Given the description of an element on the screen output the (x, y) to click on. 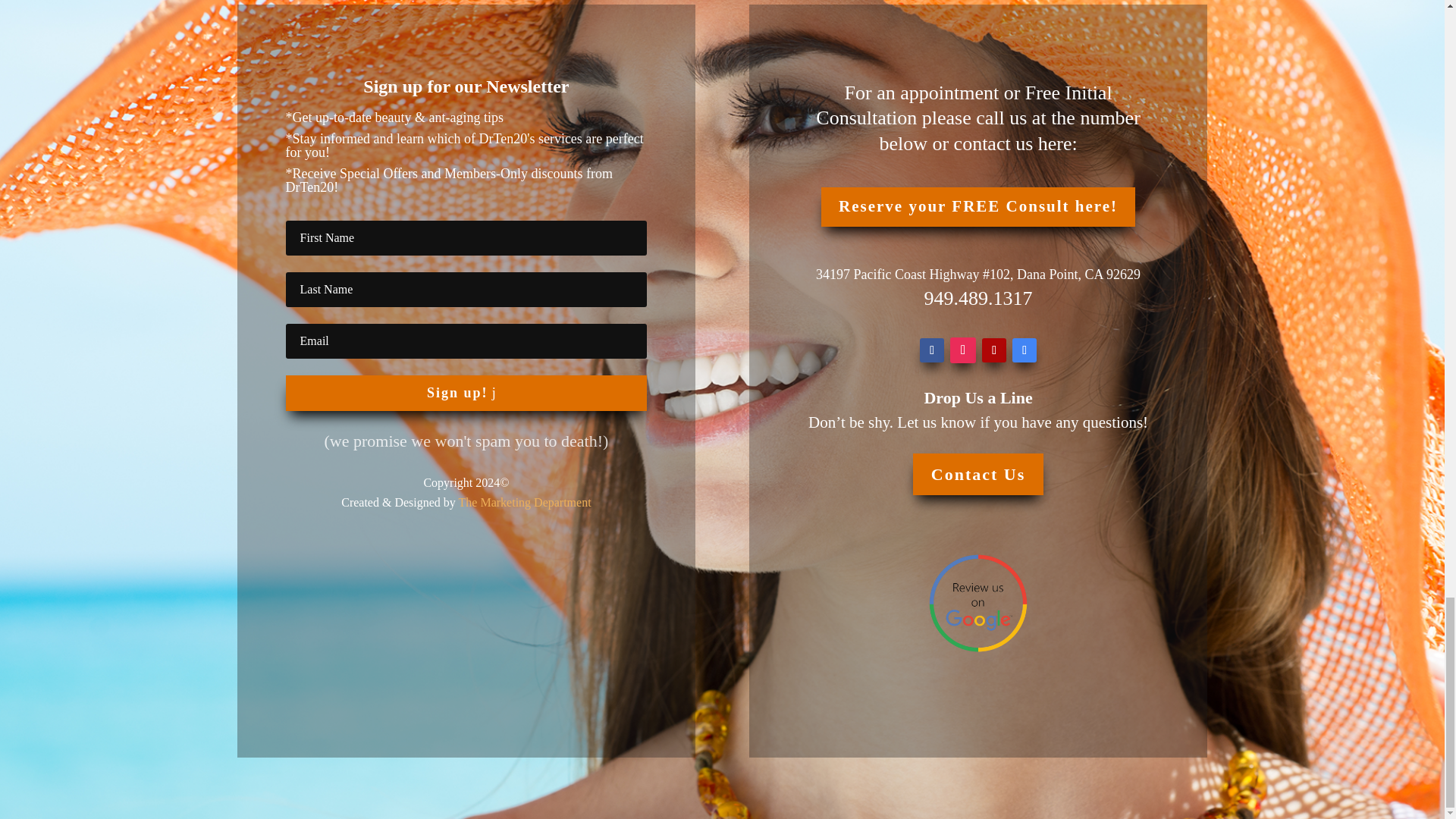
Follow on Google (1023, 350)
Review Google Icon png transparent (977, 603)
Follow on Facebook (931, 350)
Follow on Instagram (962, 350)
Follow on Yelp (993, 350)
